Given the description of an element on the screen output the (x, y) to click on. 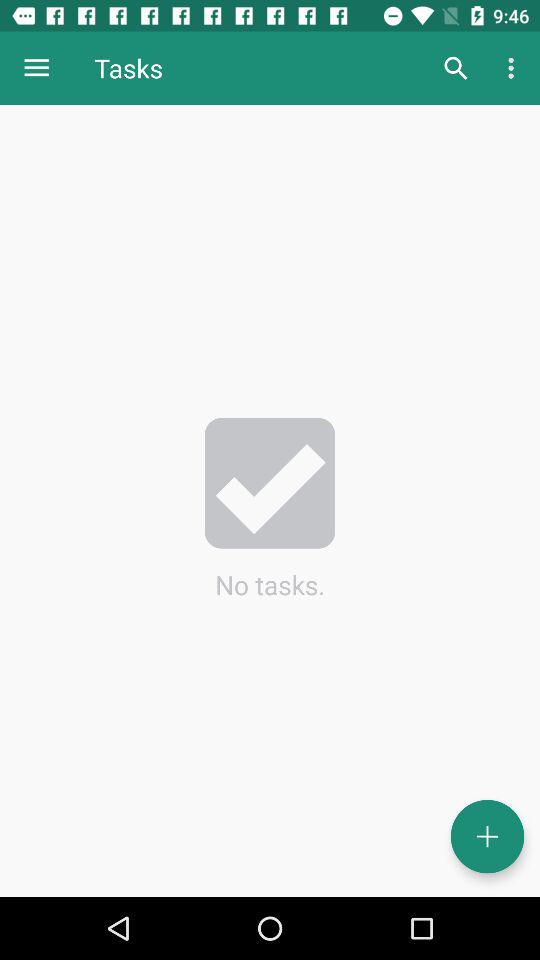
turn on the icon at the bottom right corner (487, 836)
